Given the description of an element on the screen output the (x, y) to click on. 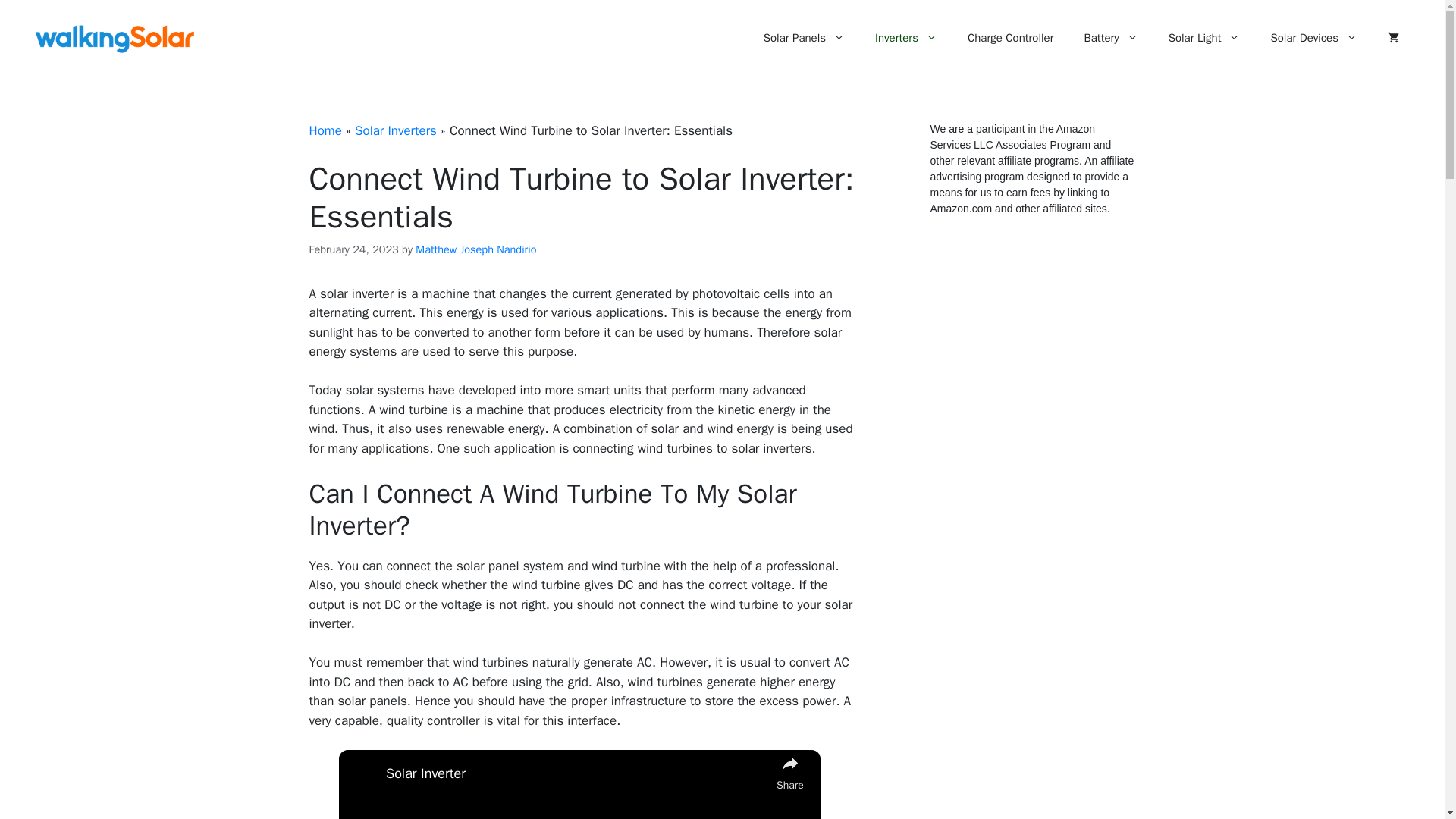
Solar Inverter (576, 773)
Solar Light (1204, 37)
Home (325, 130)
View all posts by Matthew Joseph Nandirio (474, 249)
Inverters (906, 37)
Charge Controller (1010, 37)
Solar Devices (1314, 37)
Matthew Joseph Nandirio (474, 249)
Solar Panels (804, 37)
View your shopping cart (1393, 37)
